Given the description of an element on the screen output the (x, y) to click on. 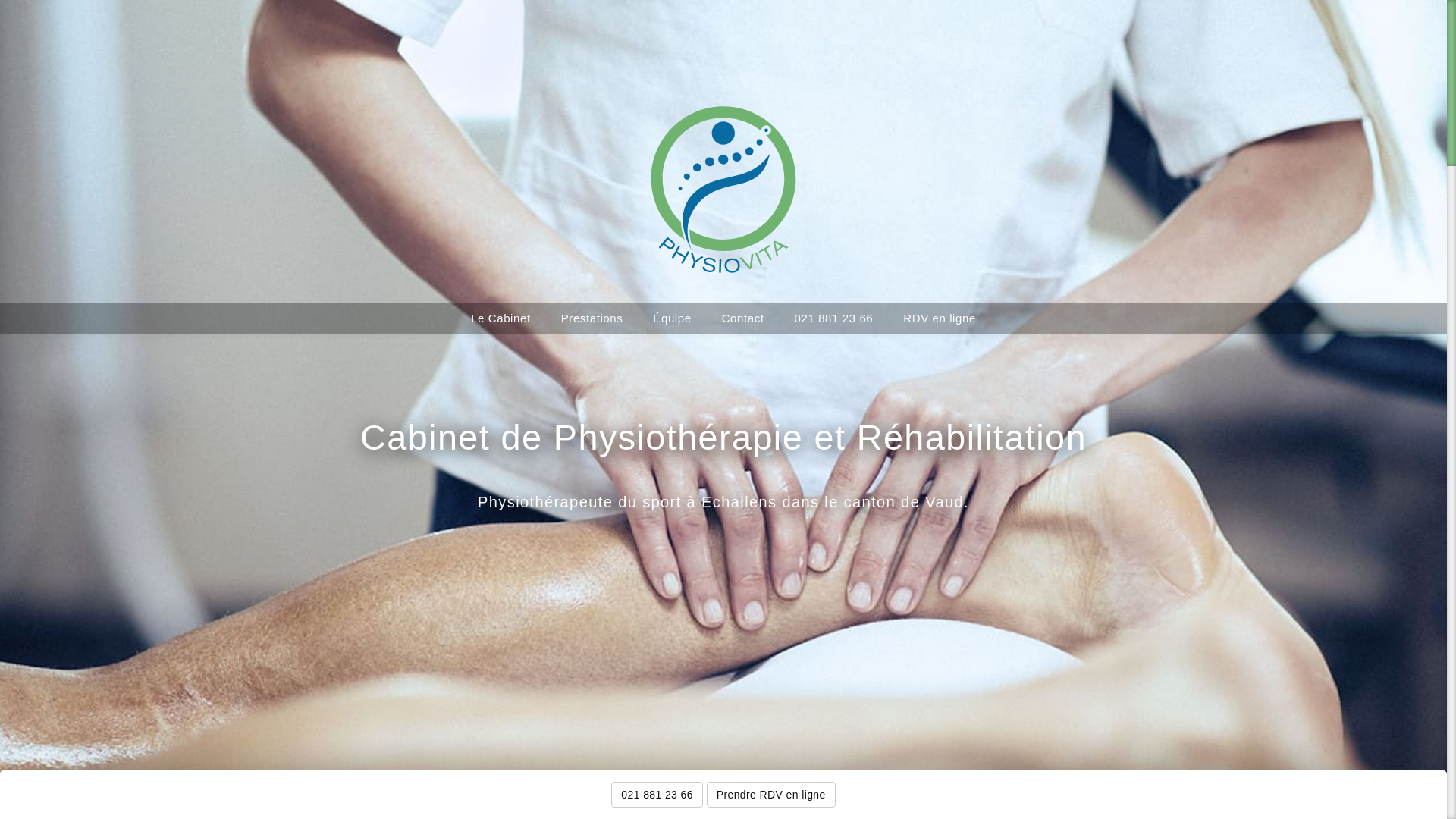
021 881 23 66 Element type: text (833, 318)
021 881 23 66 Element type: text (656, 794)
Prestations Element type: text (591, 318)
Prendre RDV en ligne Element type: text (770, 794)
Contact Element type: text (742, 318)
RDV en ligne Element type: text (939, 318)
Le Cabinet Element type: text (500, 318)
